Given the description of an element on the screen output the (x, y) to click on. 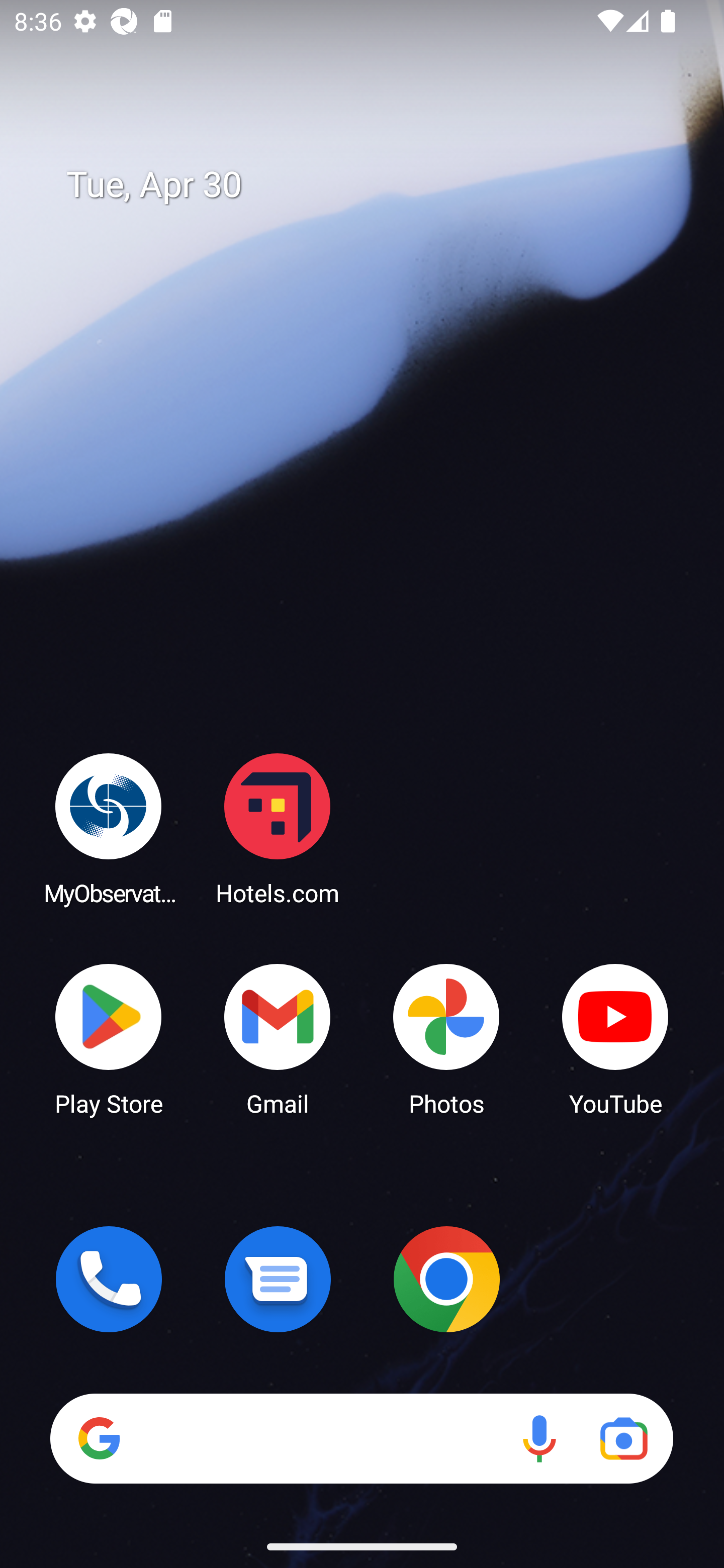
Tue, Apr 30 (375, 184)
MyObservatory (108, 828)
Hotels.com (277, 828)
Play Store (108, 1038)
Gmail (277, 1038)
Photos (445, 1038)
YouTube (615, 1038)
Phone (108, 1279)
Messages (277, 1279)
Chrome (446, 1279)
Voice search (539, 1438)
Google Lens (623, 1438)
